Given the description of an element on the screen output the (x, y) to click on. 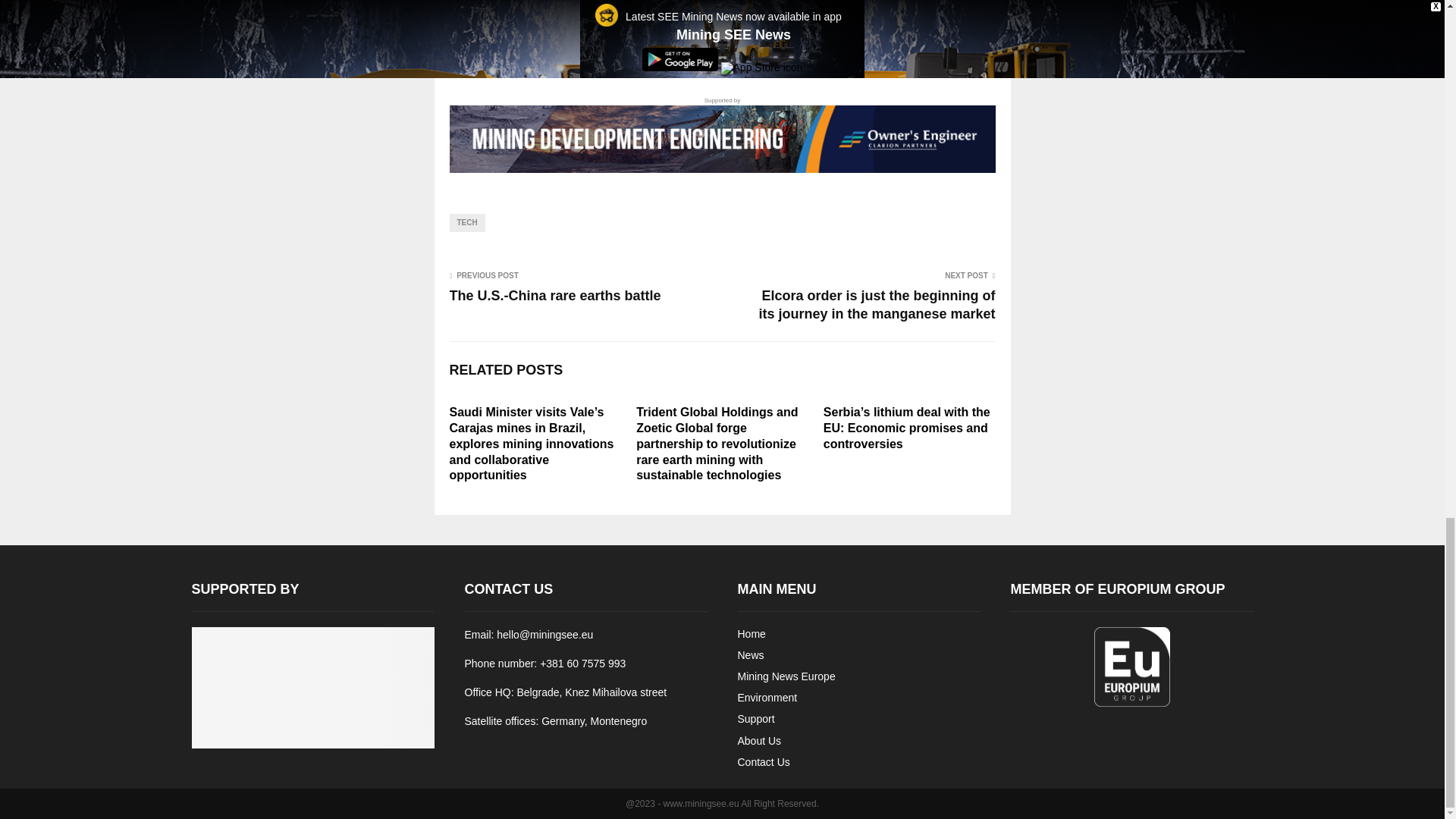
TECH (466, 222)
The U.S.-China rare earths battle (554, 295)
Supported by (721, 134)
